Given the description of an element on the screen output the (x, y) to click on. 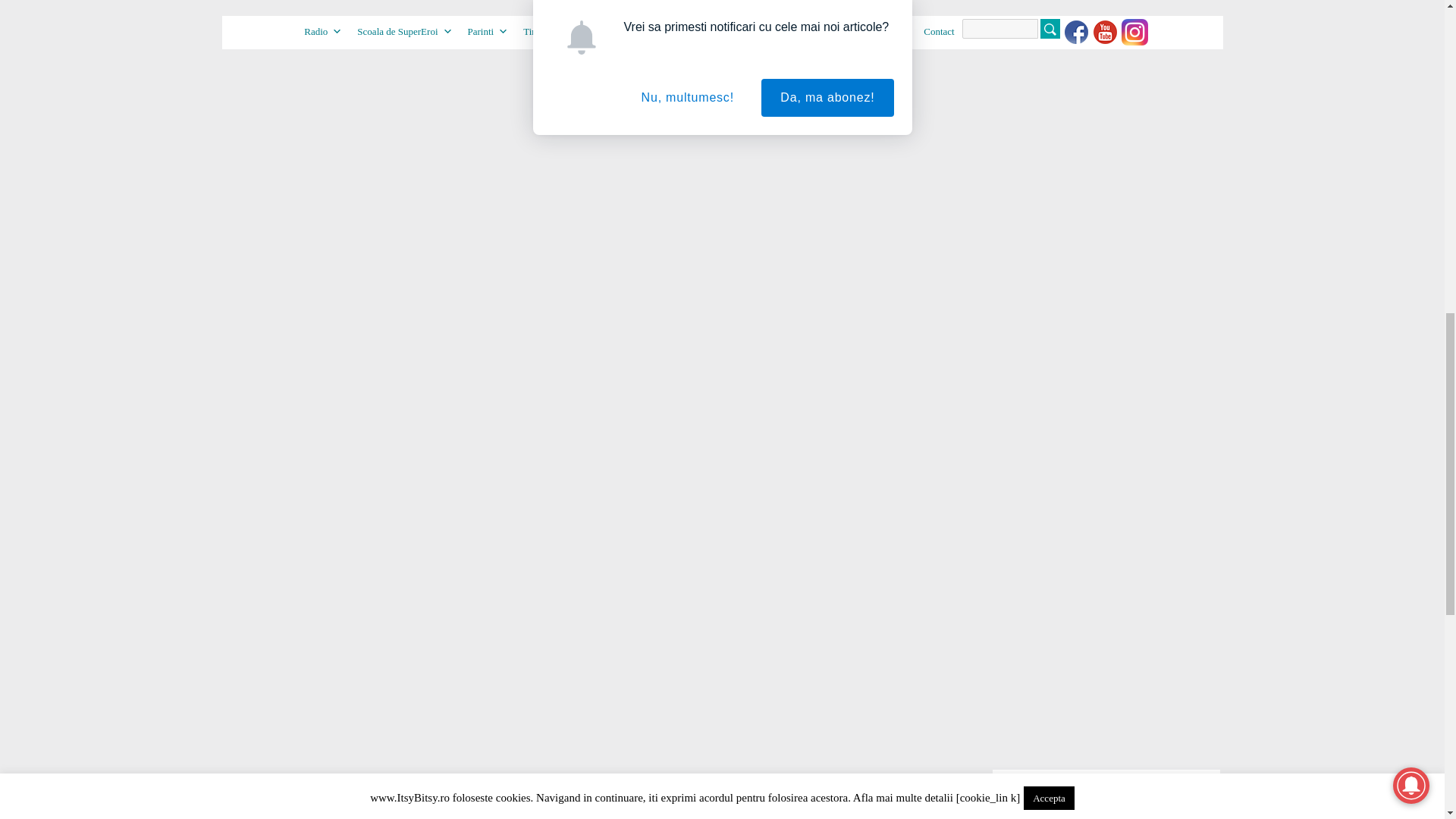
3rd party ad content (1106, 67)
